Given the description of an element on the screen output the (x, y) to click on. 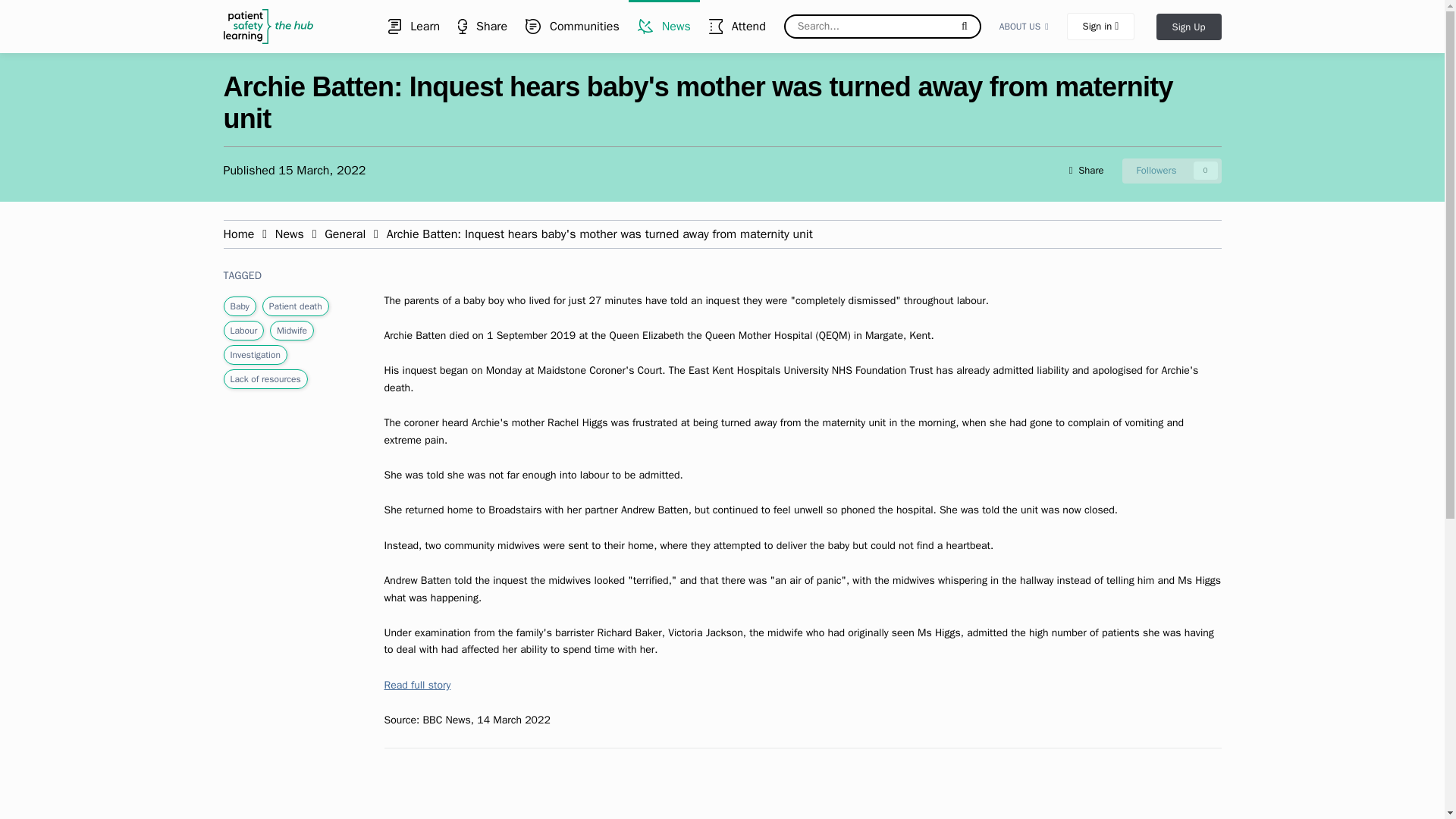
Baby (239, 306)
News (1171, 170)
Find other content tagged with 'Midwife' (664, 26)
ABOUT US (291, 330)
Sign Up (1024, 26)
Home (1188, 26)
Patient death (239, 233)
Share (295, 306)
Communities (482, 26)
Learn (572, 26)
Attend (413, 26)
Find other content tagged with 'Lack of resources' (737, 26)
Sign in to follow this (265, 378)
Find other content tagged with 'Labour' (1171, 170)
